Given the description of an element on the screen output the (x, y) to click on. 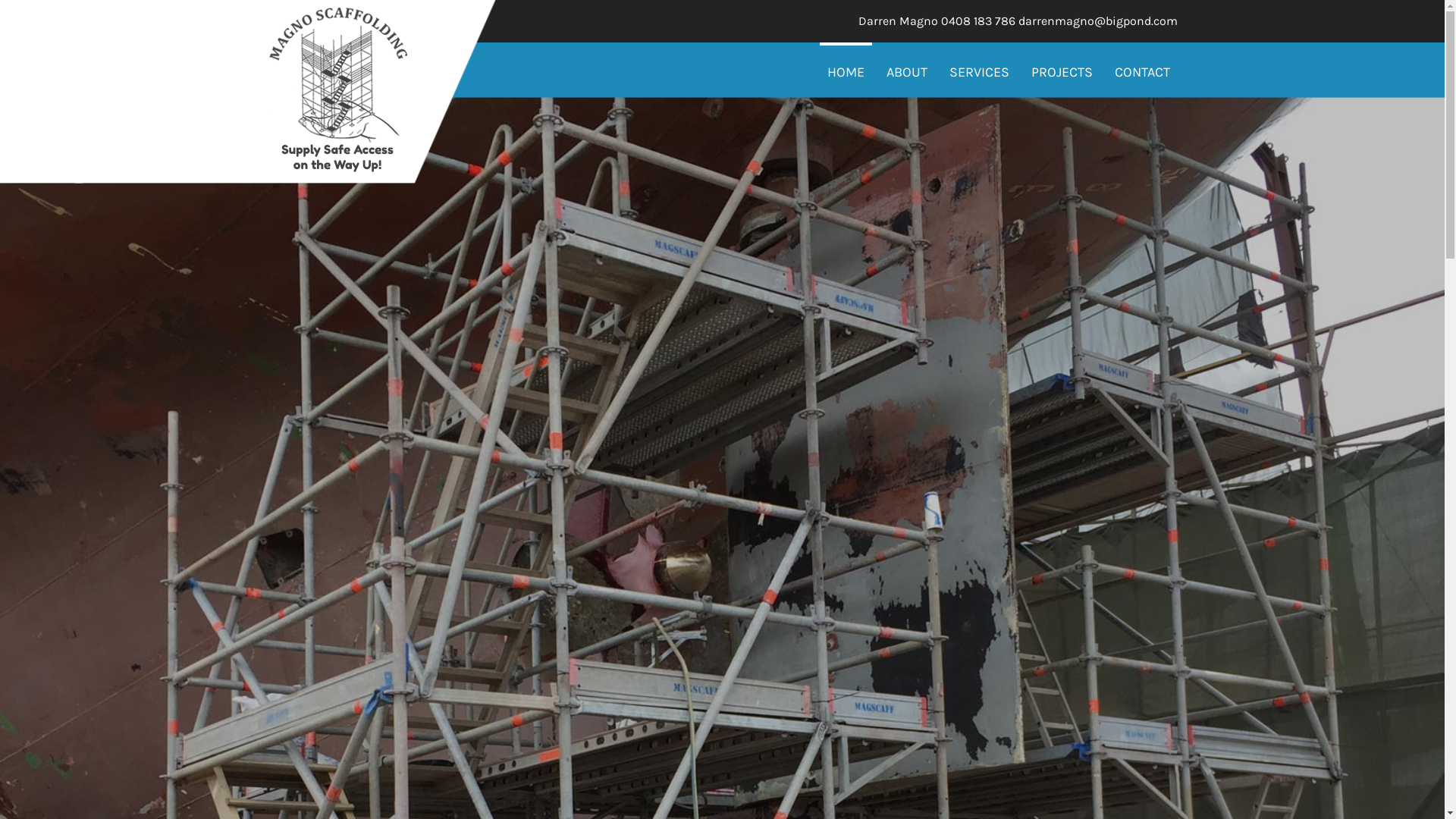
ABOUT Element type: text (906, 71)
HOME Element type: text (845, 70)
SERVICES Element type: text (978, 71)
CONTACT Element type: text (1142, 71)
PROJECTS Element type: text (1061, 71)
